Given the description of an element on the screen output the (x, y) to click on. 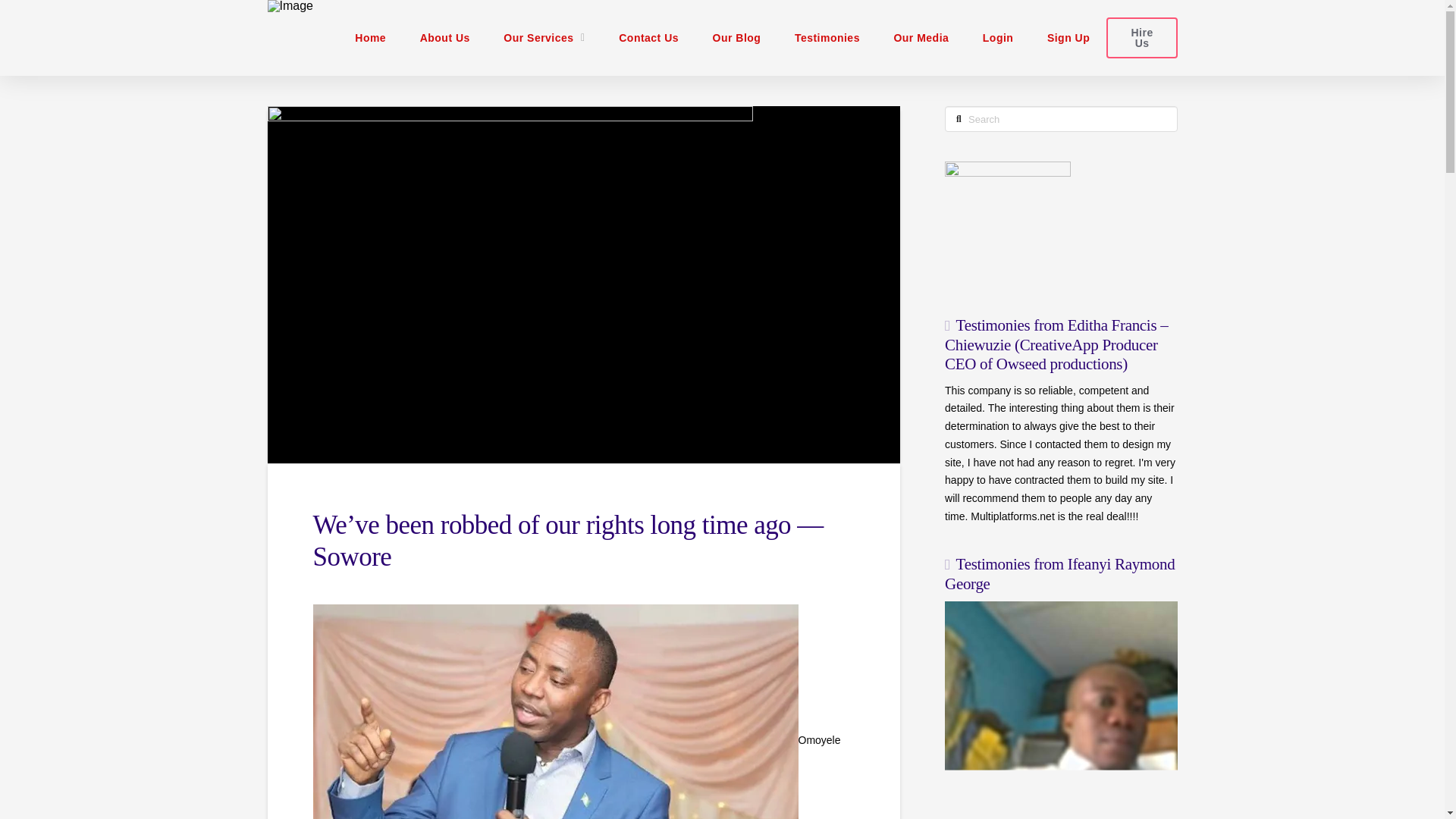
Our Blog (736, 38)
Testimonies (826, 38)
About Us (444, 38)
Hire Us (1141, 37)
Our Media (920, 38)
Sign Up (1067, 38)
Contact Us (648, 38)
Our Services (544, 38)
